Given the description of an element on the screen output the (x, y) to click on. 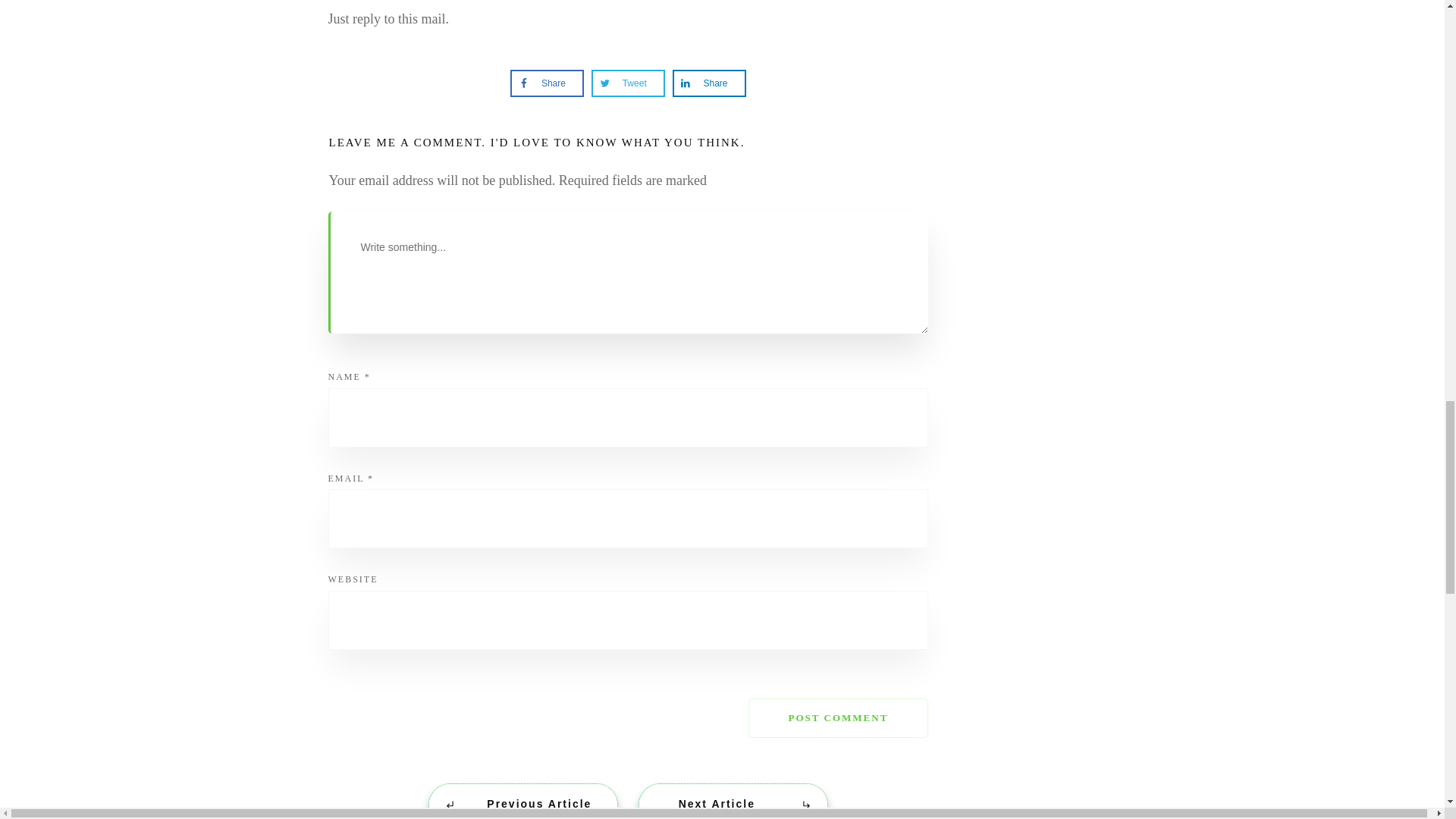
Share (702, 83)
Share (539, 83)
Previous Article (522, 800)
Tweet (620, 83)
POST COMMENT (838, 717)
Next Article (733, 800)
